Given the description of an element on the screen output the (x, y) to click on. 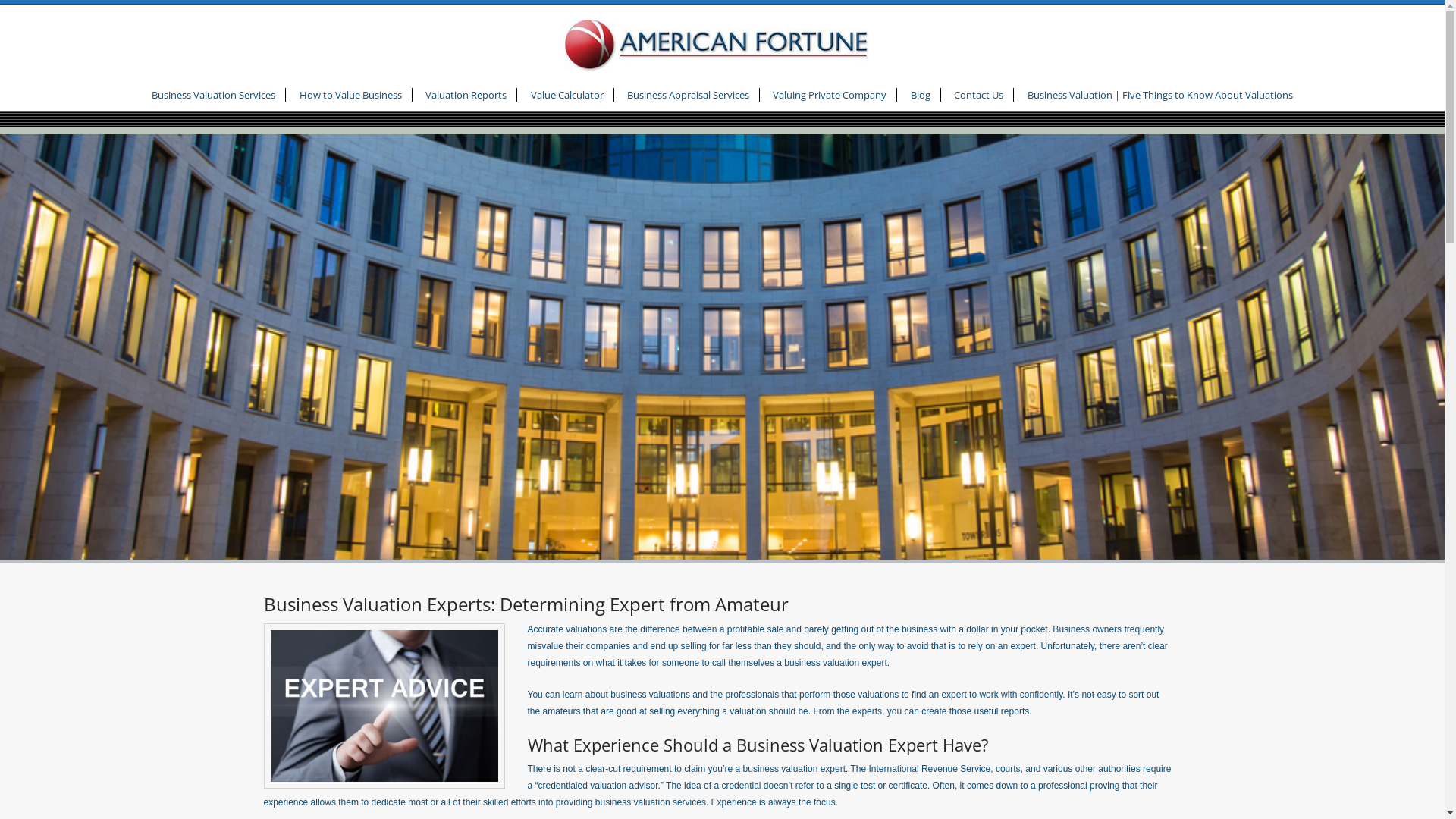
Business Valuation Services Element type: text (213, 94)
Valuing Private Company Element type: text (829, 94)
Valuation Reports Element type: text (465, 94)
How to Value Business Element type: text (350, 94)
Contact Us Element type: text (978, 94)
American Fortune Business Valuation Services Element type: hover (721, 36)
Business Valuation | Five Things to Know About Valuations Element type: text (1159, 94)
Blog Element type: text (920, 94)
Business Appraisal Services Element type: text (688, 94)
Value Calculator Element type: text (566, 94)
